Given the description of an element on the screen output the (x, y) to click on. 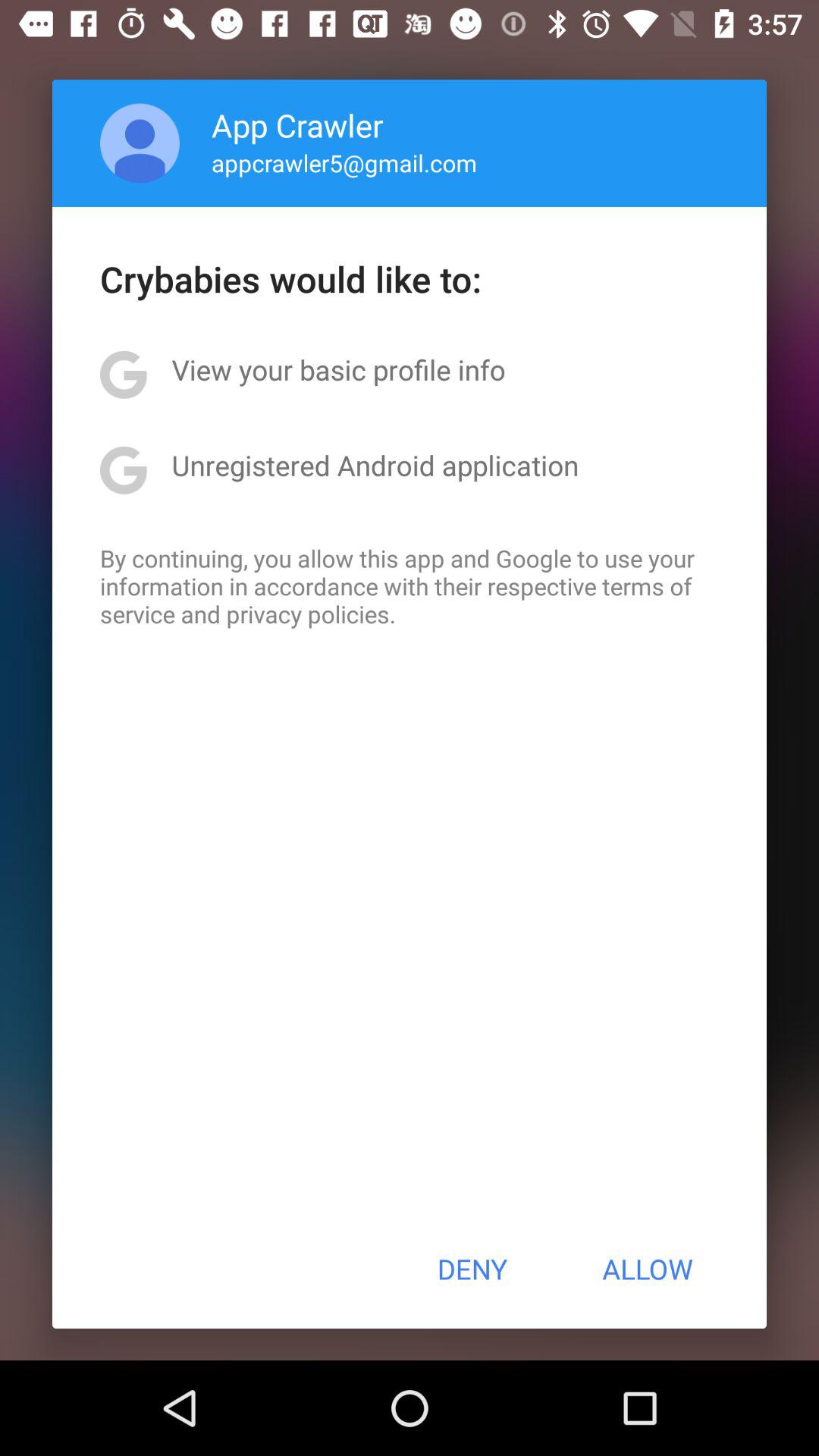
turn off icon below view your basic (374, 465)
